Given the description of an element on the screen output the (x, y) to click on. 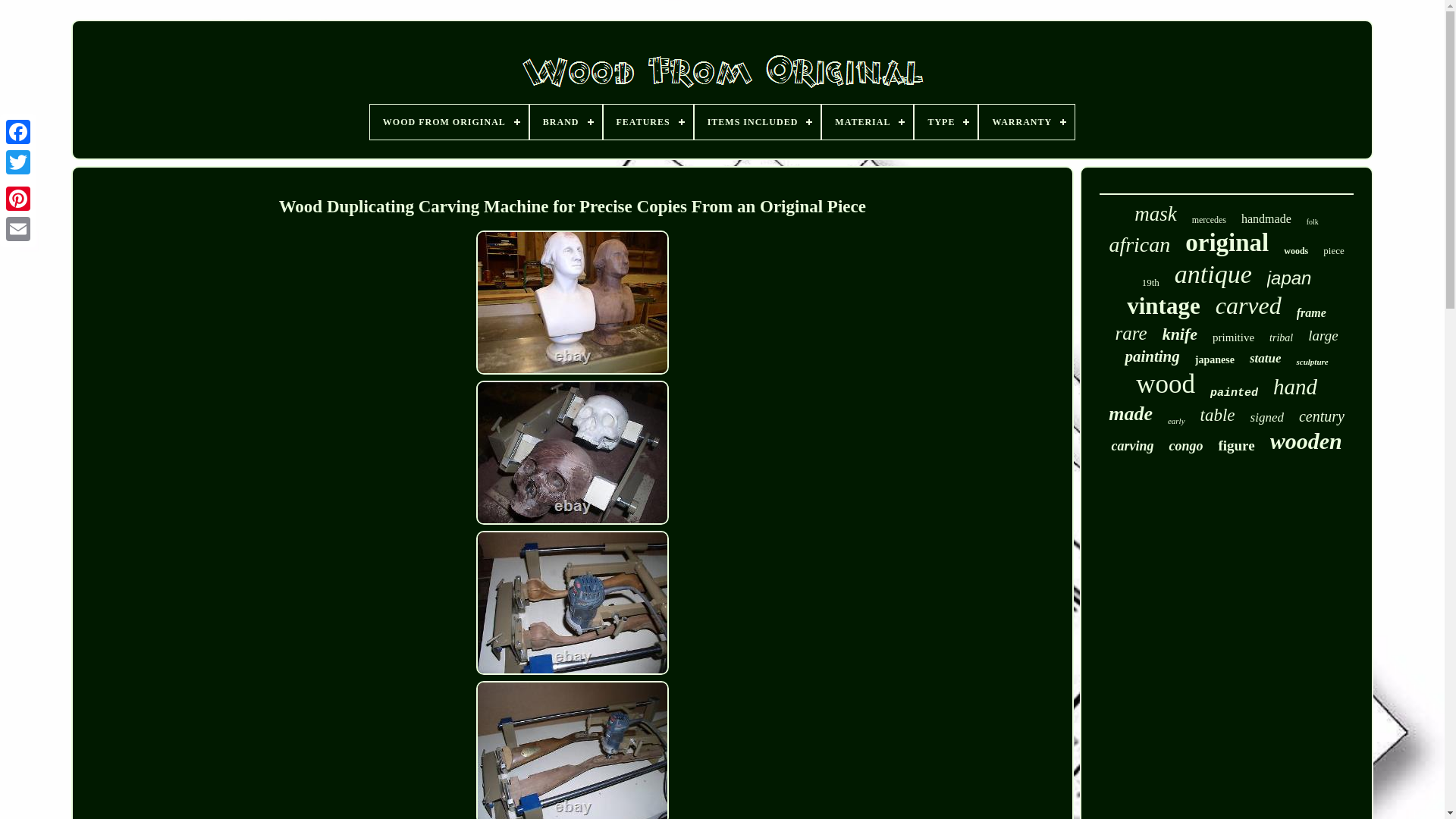
FEATURES (648, 121)
WOOD FROM ORIGINAL (448, 121)
BRAND (565, 121)
